Given the description of an element on the screen output the (x, y) to click on. 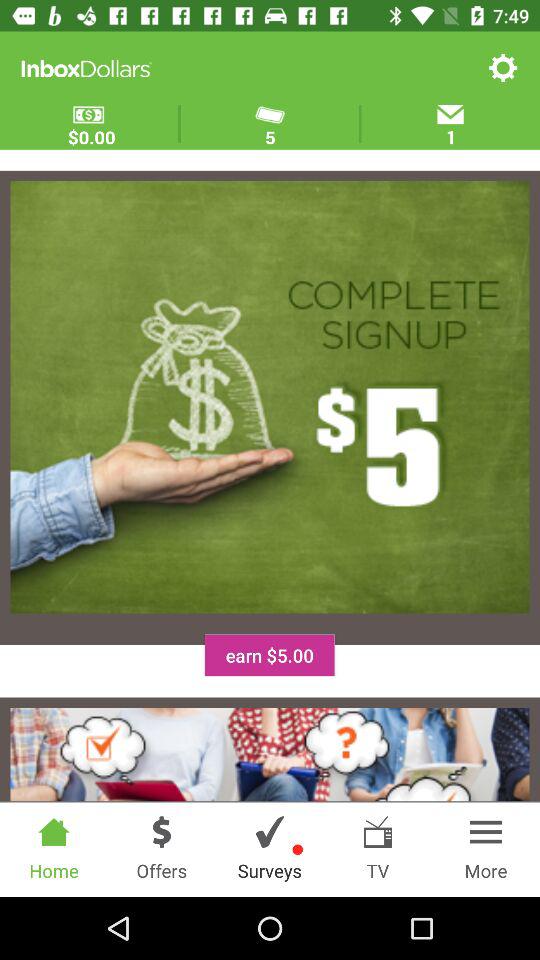
scroll until the earn $5.00 (269, 655)
